Given the description of an element on the screen output the (x, y) to click on. 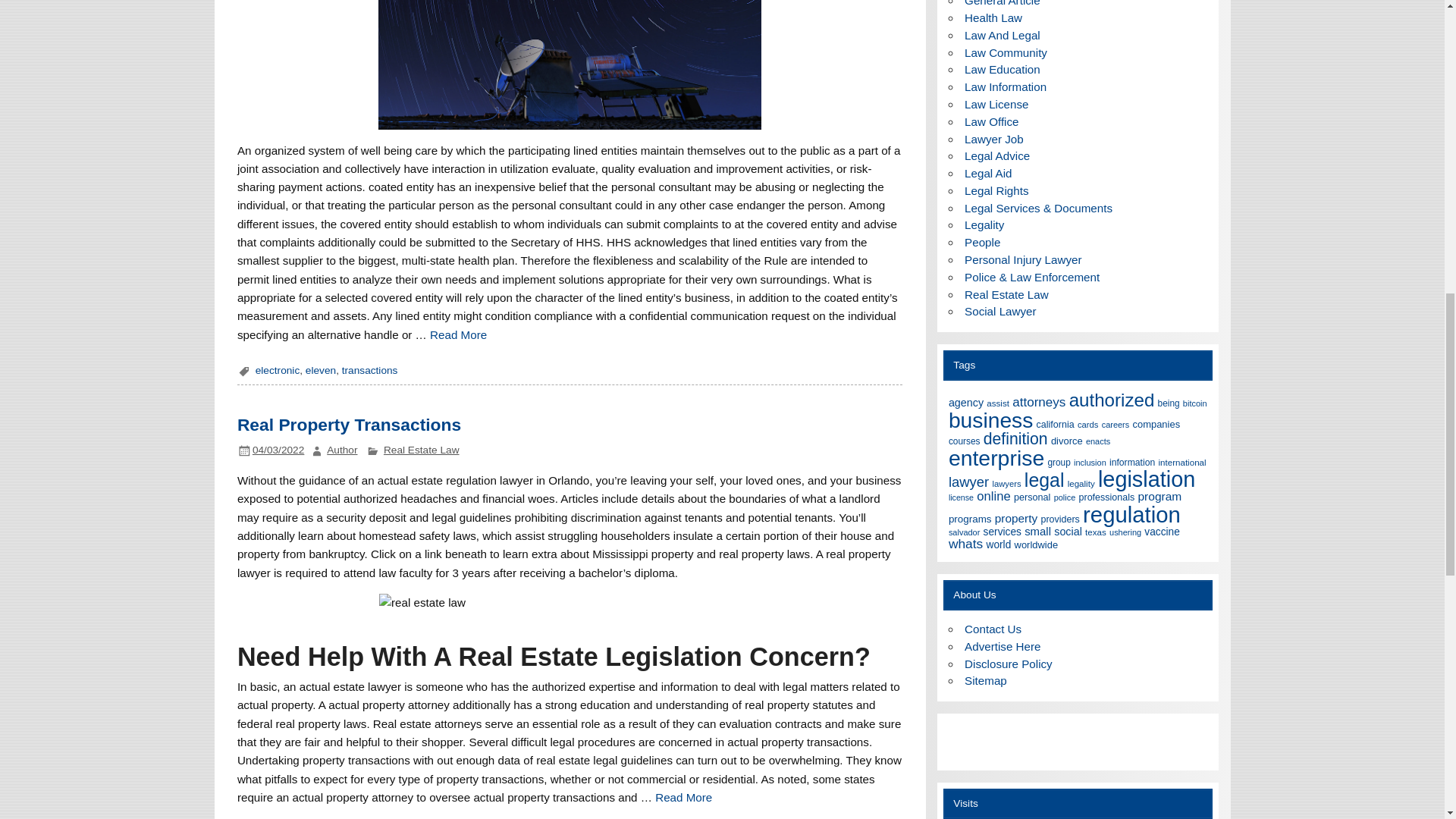
eleven (320, 369)
Real Property Transactions (349, 424)
View all posts by Author (341, 449)
Author (341, 449)
transactions (369, 369)
Read More (457, 334)
electronic (277, 369)
09:27 (277, 449)
